Given the description of an element on the screen output the (x, y) to click on. 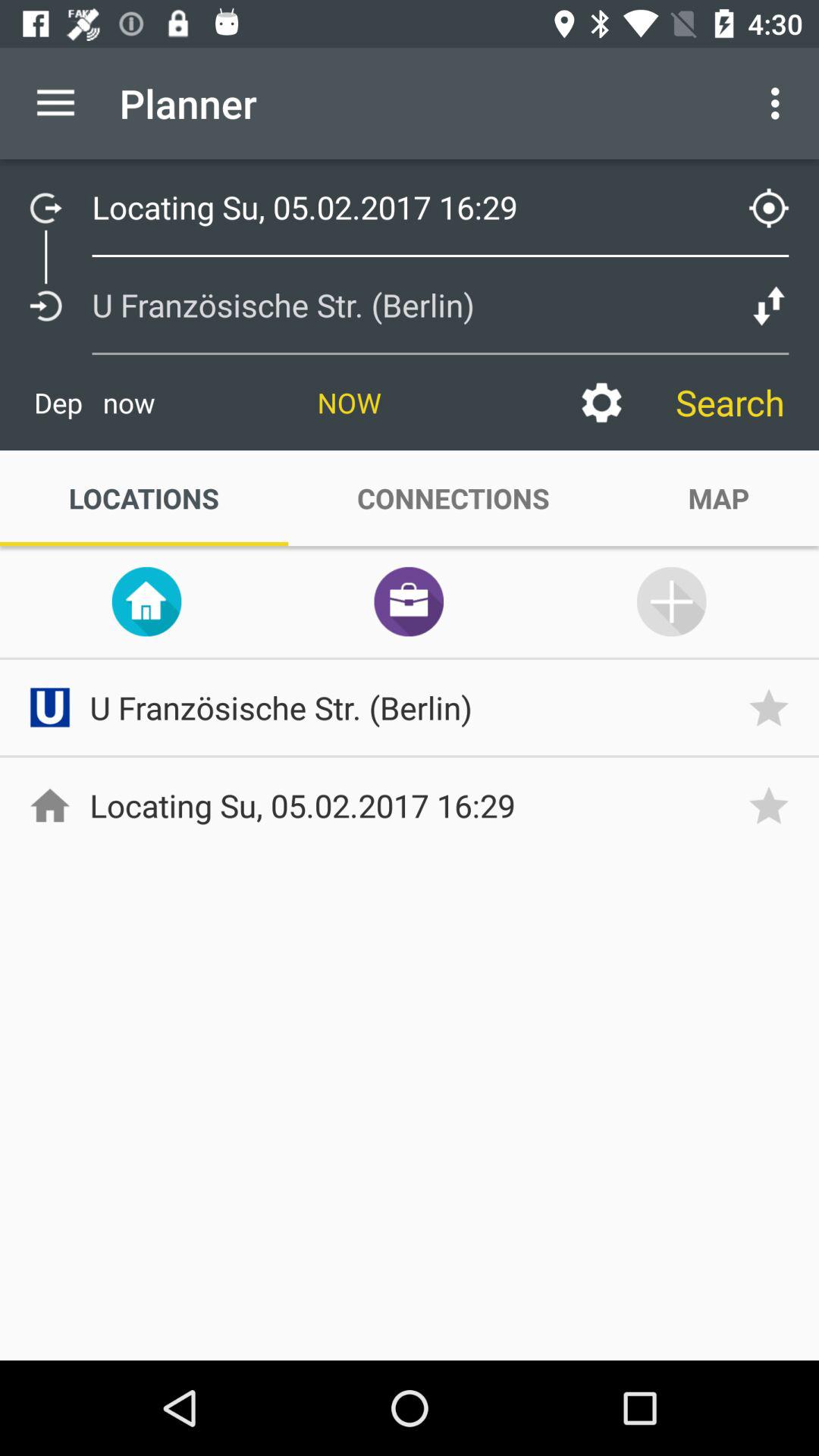
select the first star icon on right (774, 706)
click on home button (146, 601)
select the option search (729, 402)
click on the option beside berlin (769, 306)
select text under planner tab (405, 206)
click on the first home button from bottom (49, 805)
